Given the description of an element on the screen output the (x, y) to click on. 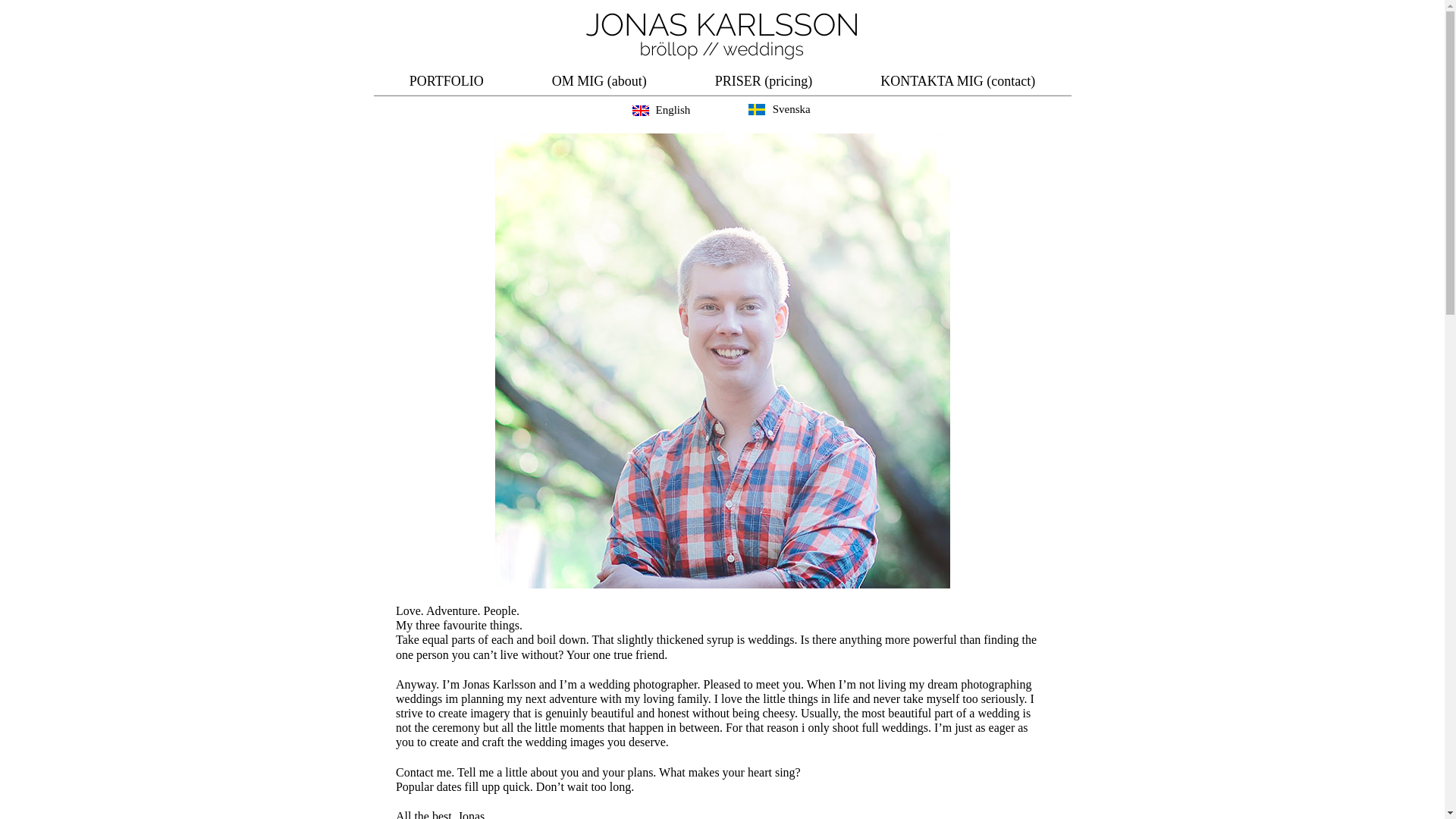
English (664, 110)
Svenska (780, 110)
PORTFOLIO (446, 80)
